Given the description of an element on the screen output the (x, y) to click on. 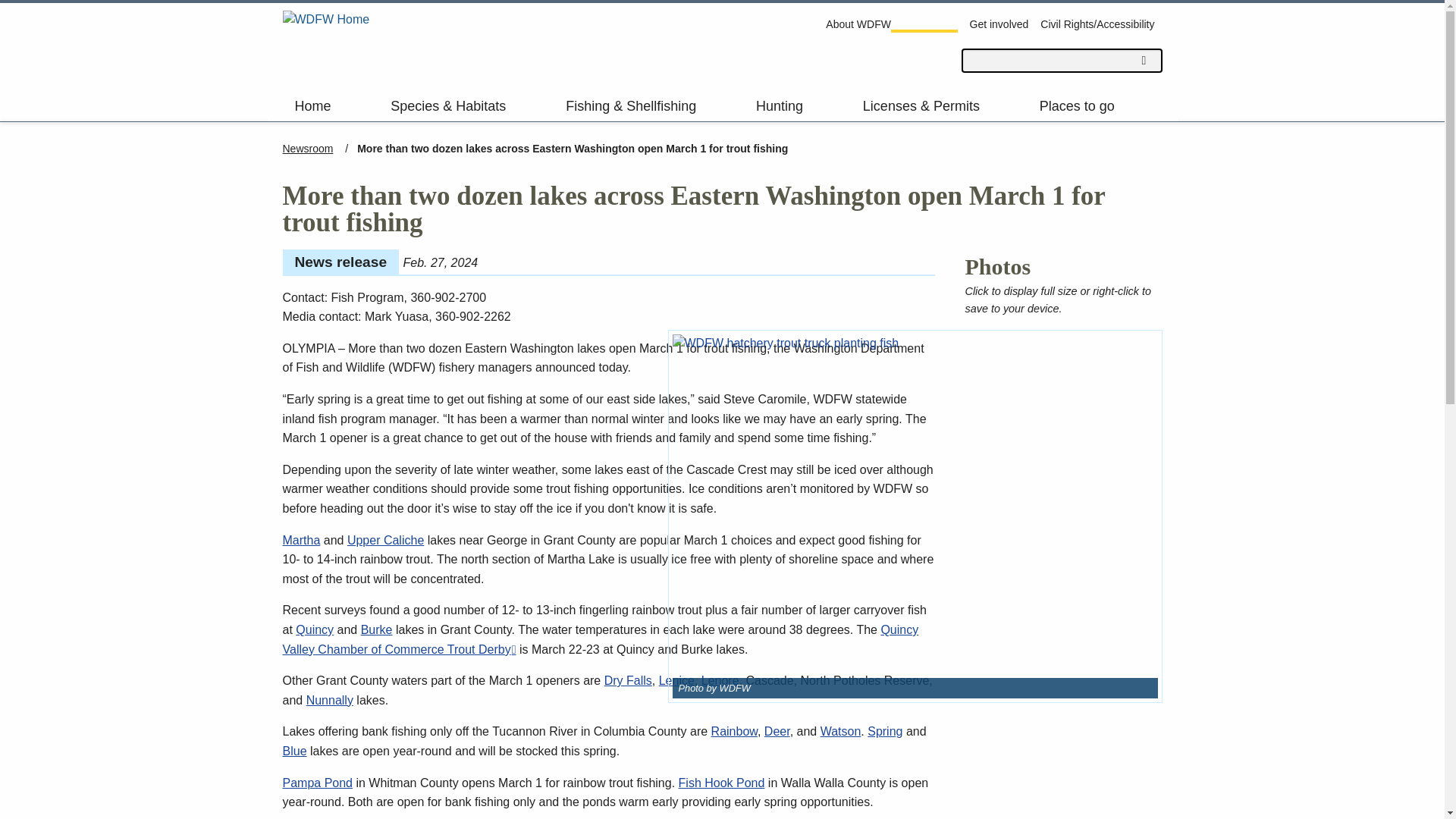
Home (325, 44)
Hunting (797, 105)
Home (330, 105)
